Given the description of an element on the screen output the (x, y) to click on. 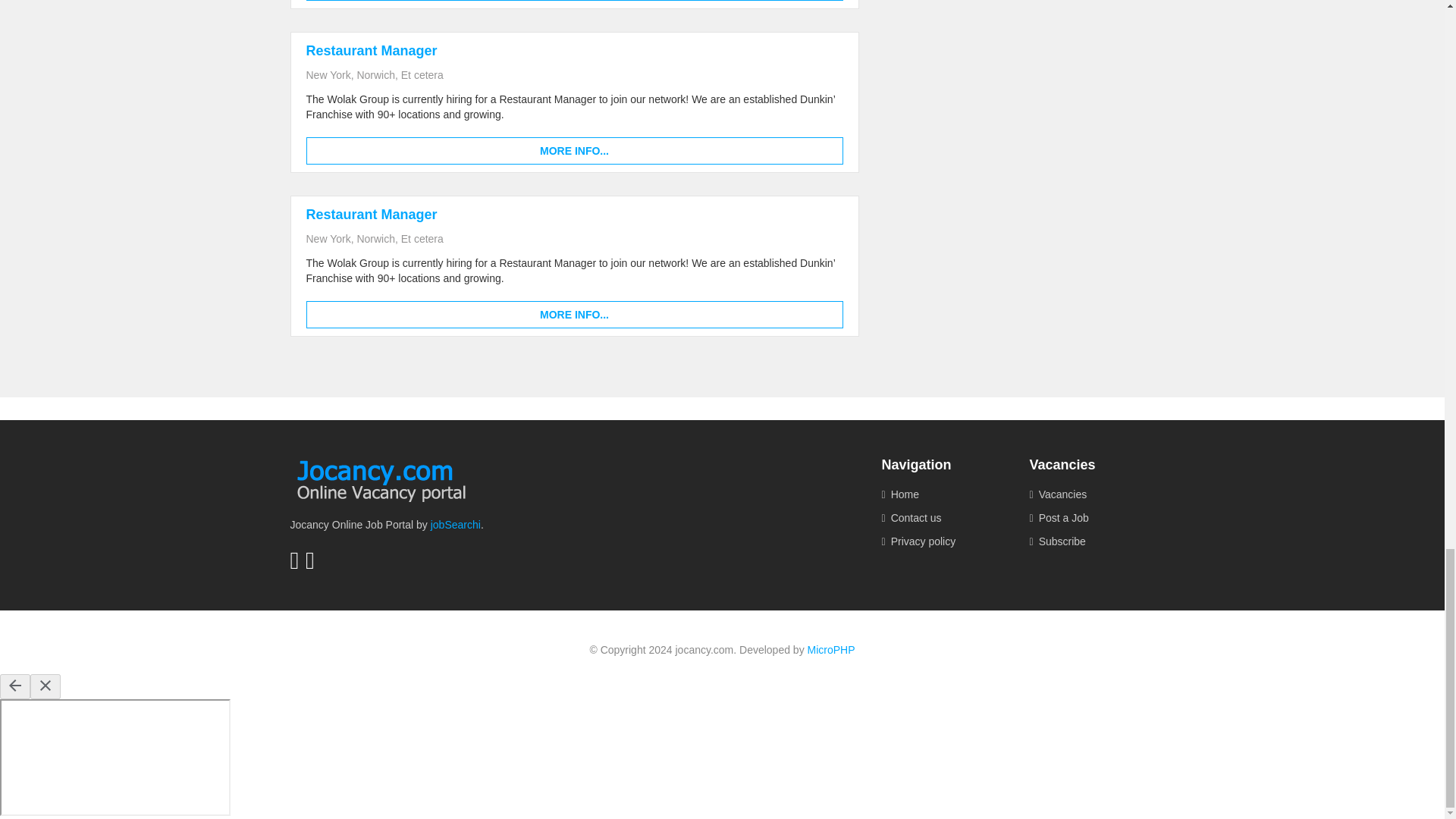
jobSearchi (455, 524)
Et cetera (422, 74)
New York (327, 238)
MORE INFO... (574, 150)
Restaurant Manager (371, 50)
New York (327, 74)
MORE INFO... (574, 314)
Restaurant Manager (371, 214)
Et cetera (422, 238)
